Given the description of an element on the screen output the (x, y) to click on. 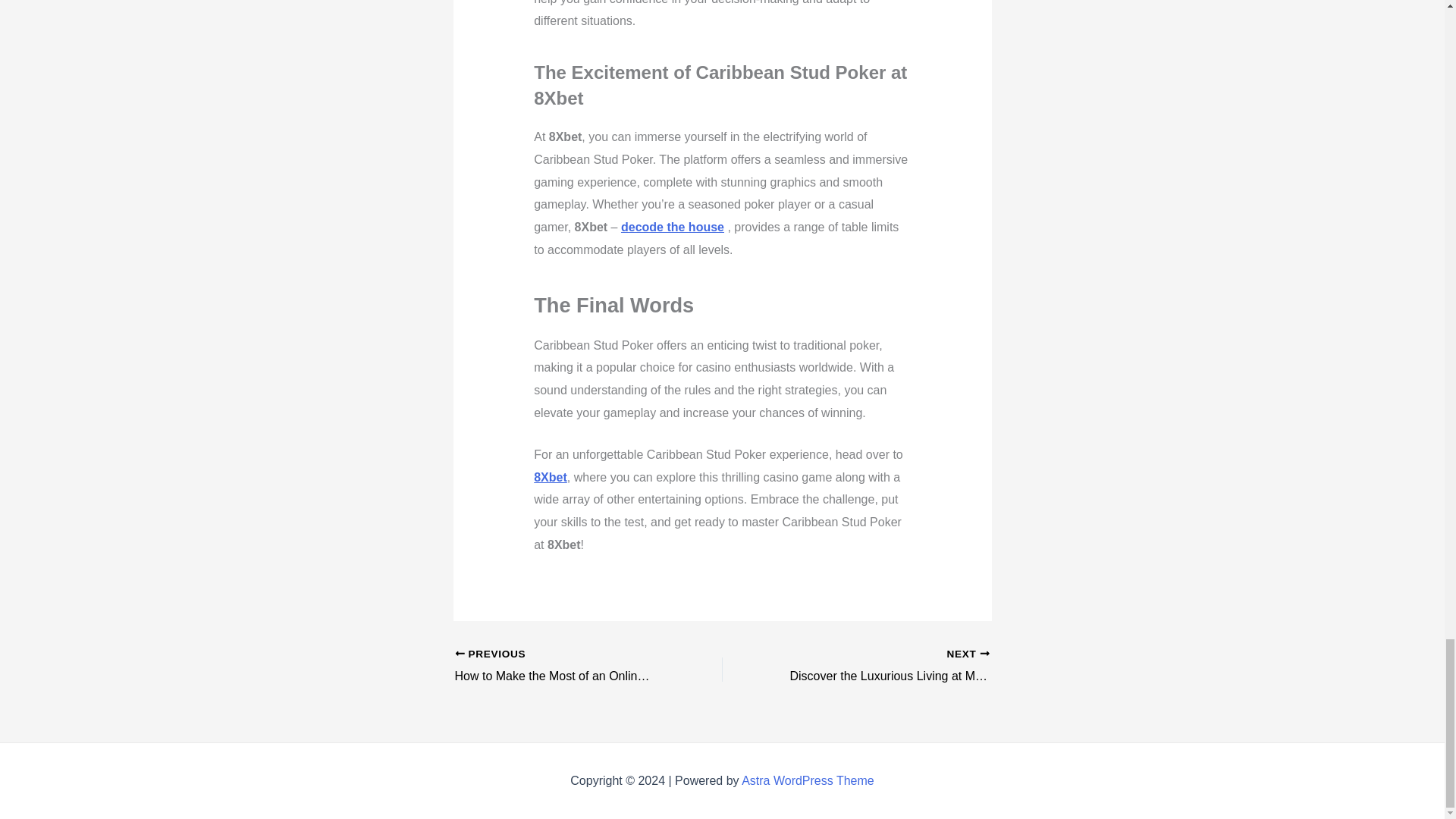
8Xbet (550, 477)
decode the house (672, 226)
Astra WordPress Theme (808, 780)
